Given the description of an element on the screen output the (x, y) to click on. 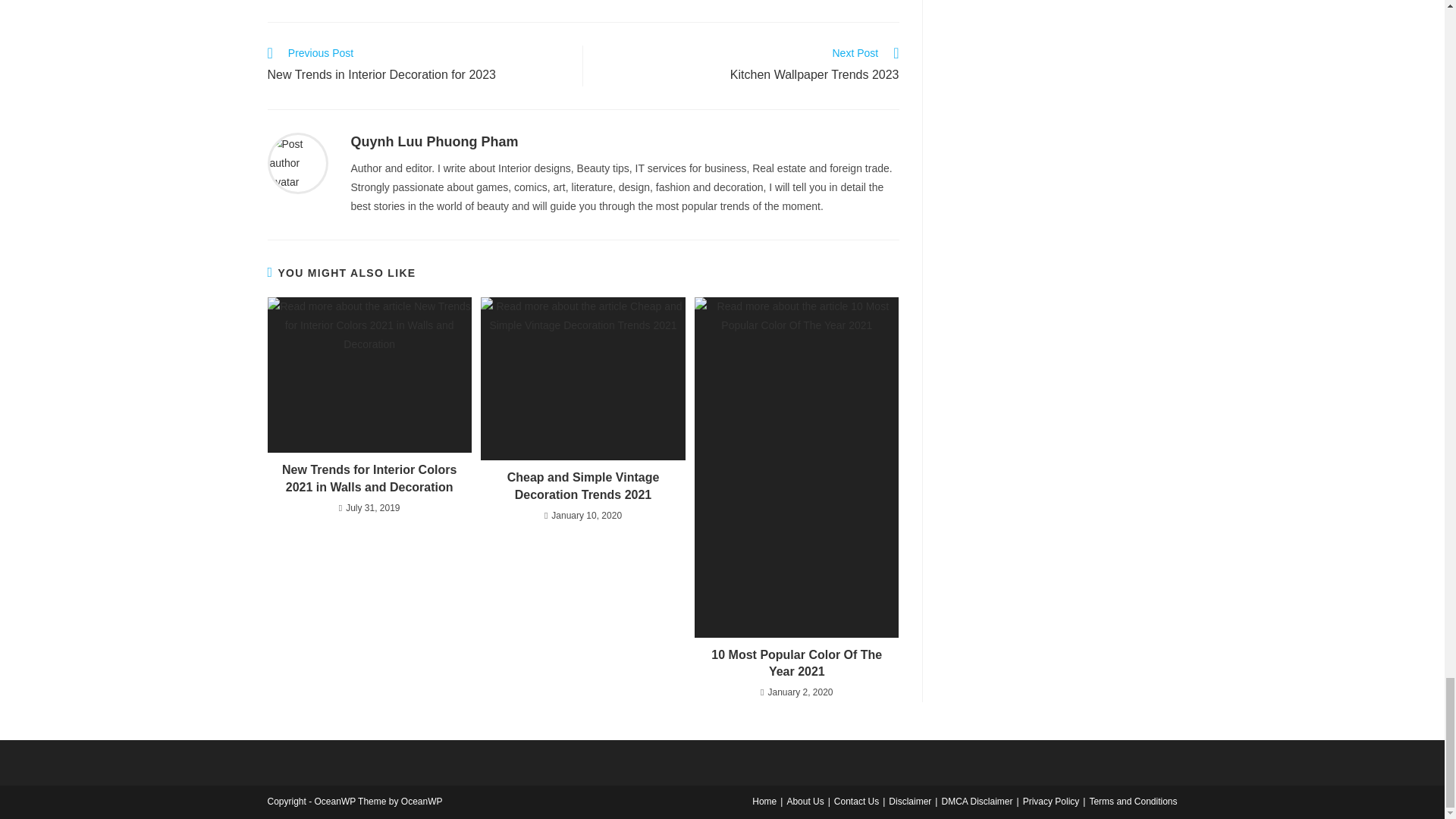
Visit author page (434, 141)
Visit author page (296, 162)
